Given the description of an element on the screen output the (x, y) to click on. 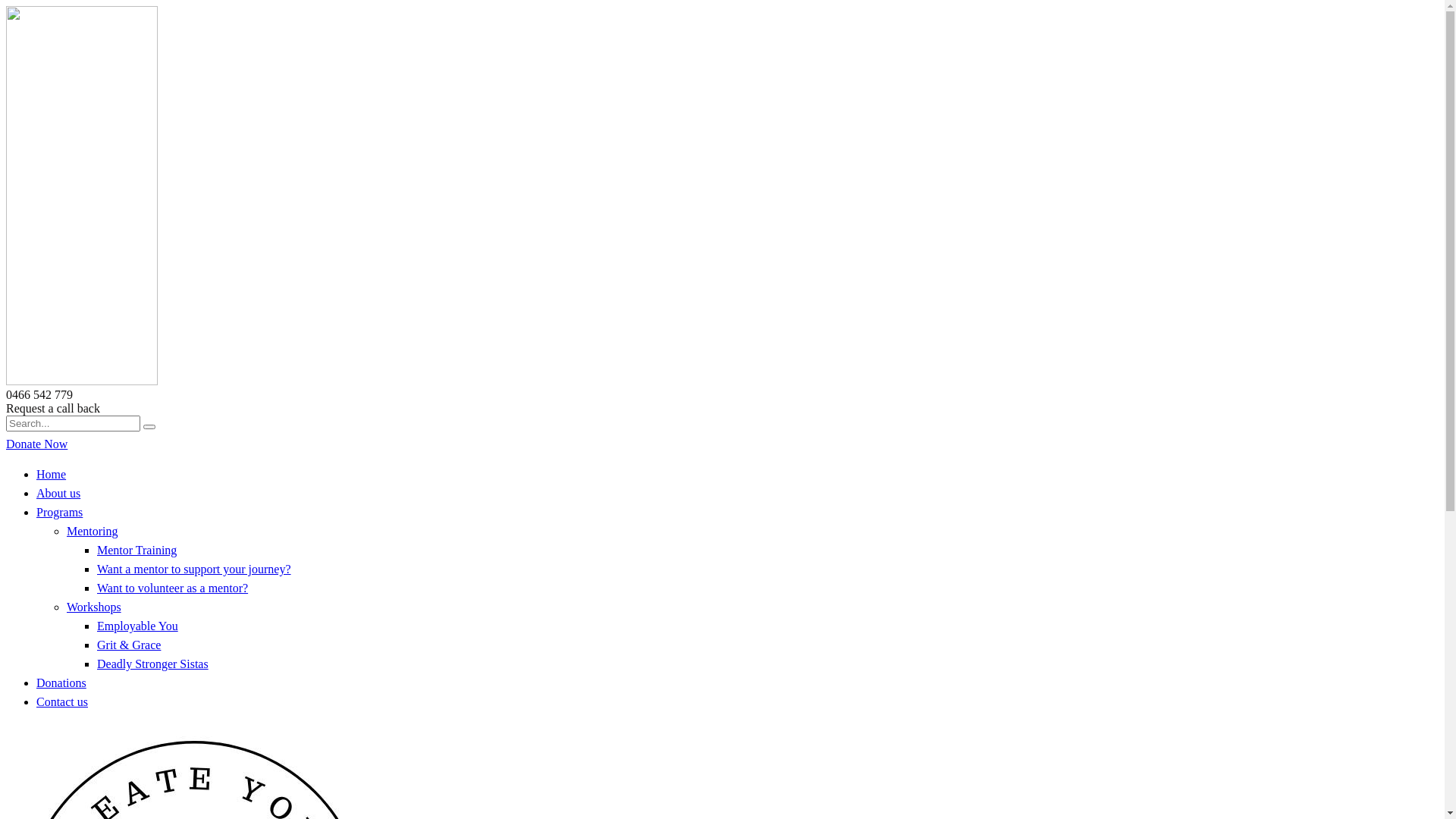
Donations Element type: text (61, 682)
Want to volunteer as a mentor? Element type: text (172, 587)
Programs Element type: text (59, 511)
Want a mentor to support your journey? Element type: text (194, 568)
Employable You Element type: text (137, 625)
Mentoring Element type: text (92, 530)
Grit & Grace Element type: text (128, 644)
Deadly Stronger Sistas Element type: text (152, 663)
About us Element type: text (58, 492)
Mentor Training Element type: text (136, 549)
Workshops Element type: text (93, 606)
Contact us Element type: text (61, 701)
Home Element type: text (50, 473)
Donate Now Element type: text (36, 443)
